Given the description of an element on the screen output the (x, y) to click on. 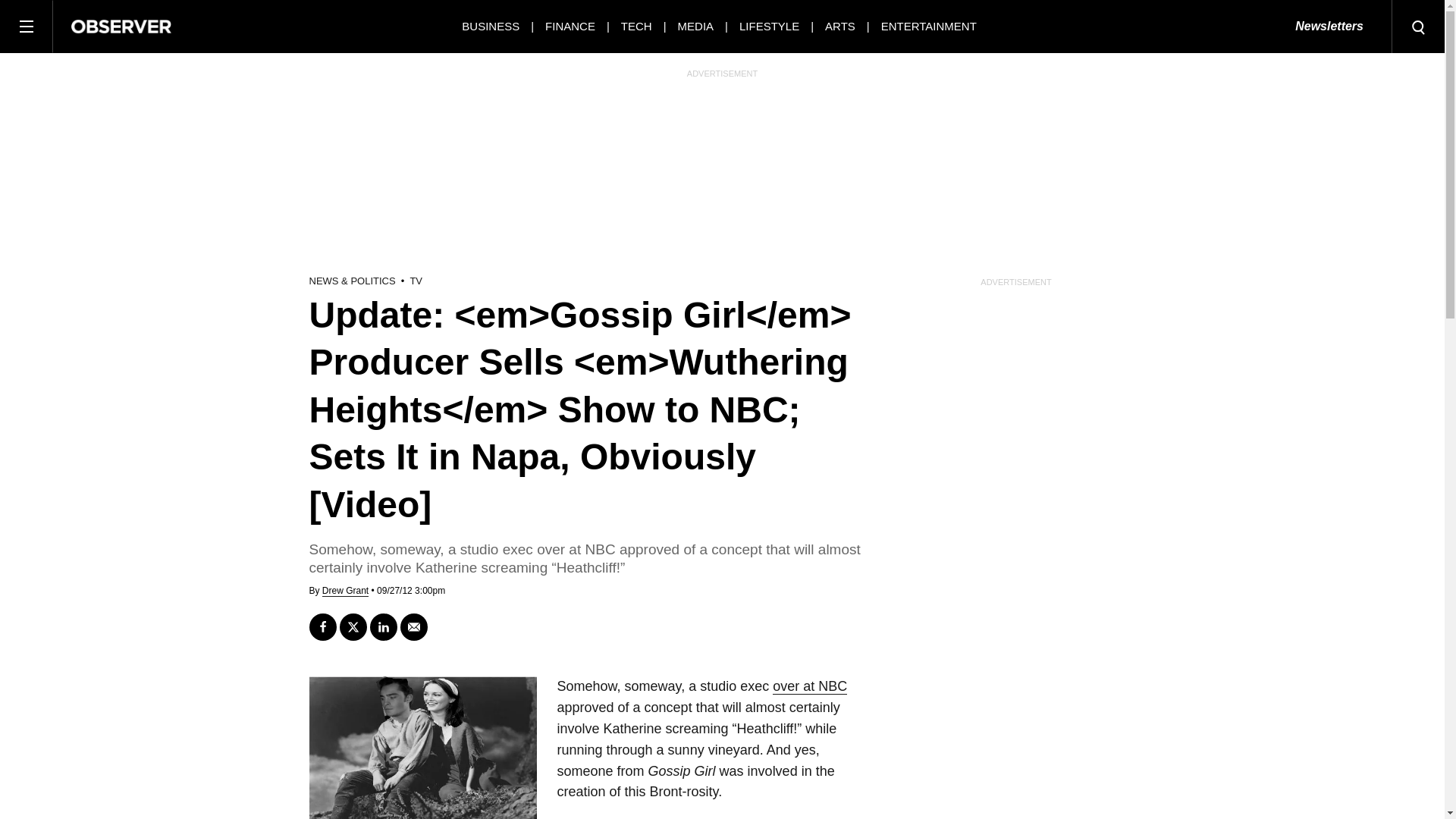
ARTS (840, 25)
blair (422, 747)
Newsletters (1329, 26)
TECH (636, 25)
Send email (414, 626)
Tweet (352, 626)
MEDIA (696, 25)
Observer (121, 26)
BUSINESS (490, 25)
FINANCE (569, 25)
